Given the description of an element on the screen output the (x, y) to click on. 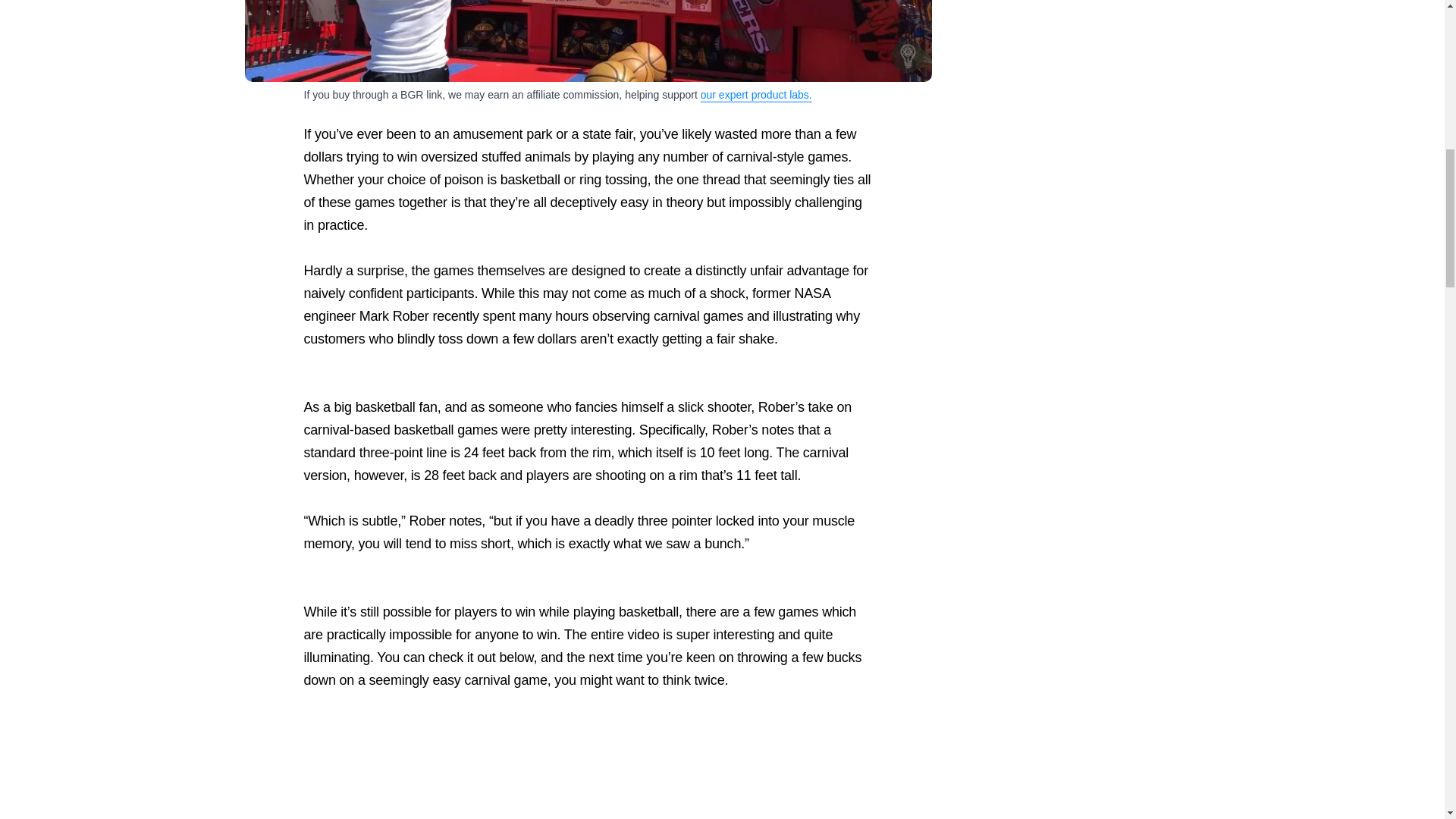
Amusement Park Games (587, 40)
